Given the description of an element on the screen output the (x, y) to click on. 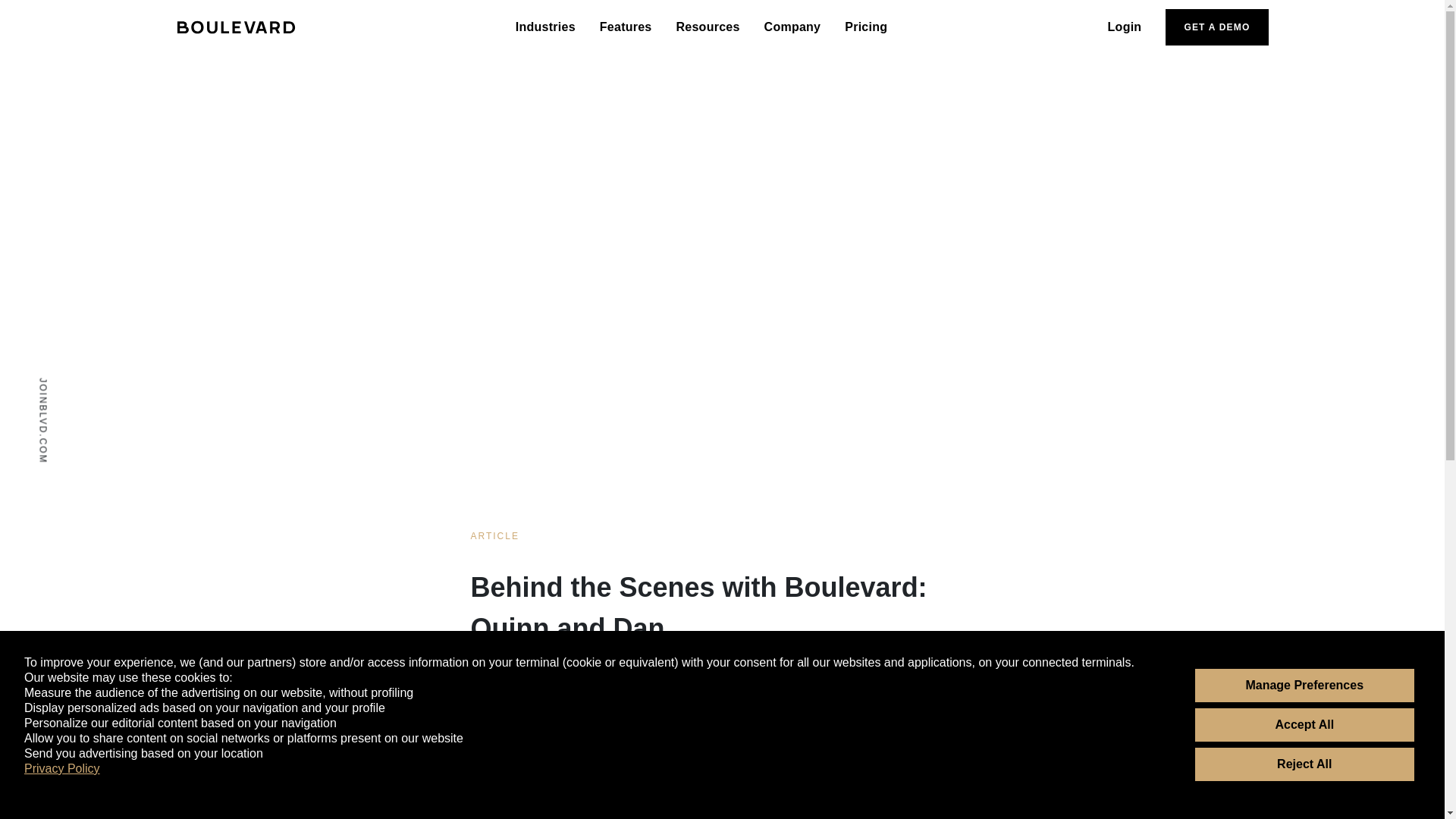
Features (625, 26)
Login (1124, 27)
GET A DEMO (1217, 27)
Reject All (1305, 764)
Manage Preferences (1305, 685)
JOINBLVD.COM (80, 382)
BY BOULEVARD (513, 698)
Privacy Policy (62, 768)
Pricing (865, 26)
Accept All (1305, 725)
